Given the description of an element on the screen output the (x, y) to click on. 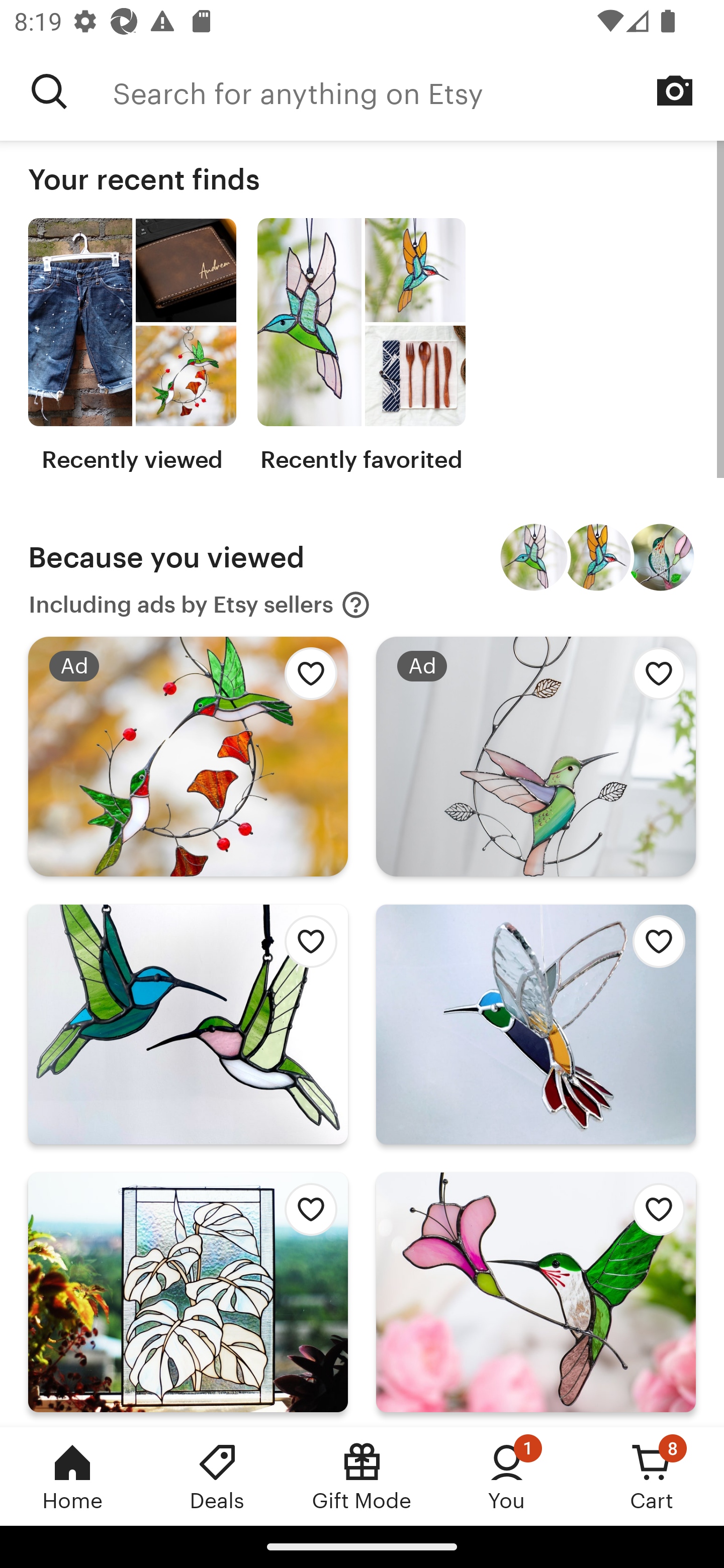
Search for anything on Etsy (49, 91)
Search by image (674, 90)
Search for anything on Etsy (418, 91)
Recently viewed (132, 345)
Recently favorited (361, 345)
Including ads by Etsy sellers (199, 604)
Deals (216, 1475)
Gift Mode (361, 1475)
You, 1 new notification You (506, 1475)
Cart, 8 new notifications Cart (651, 1475)
